Given the description of an element on the screen output the (x, y) to click on. 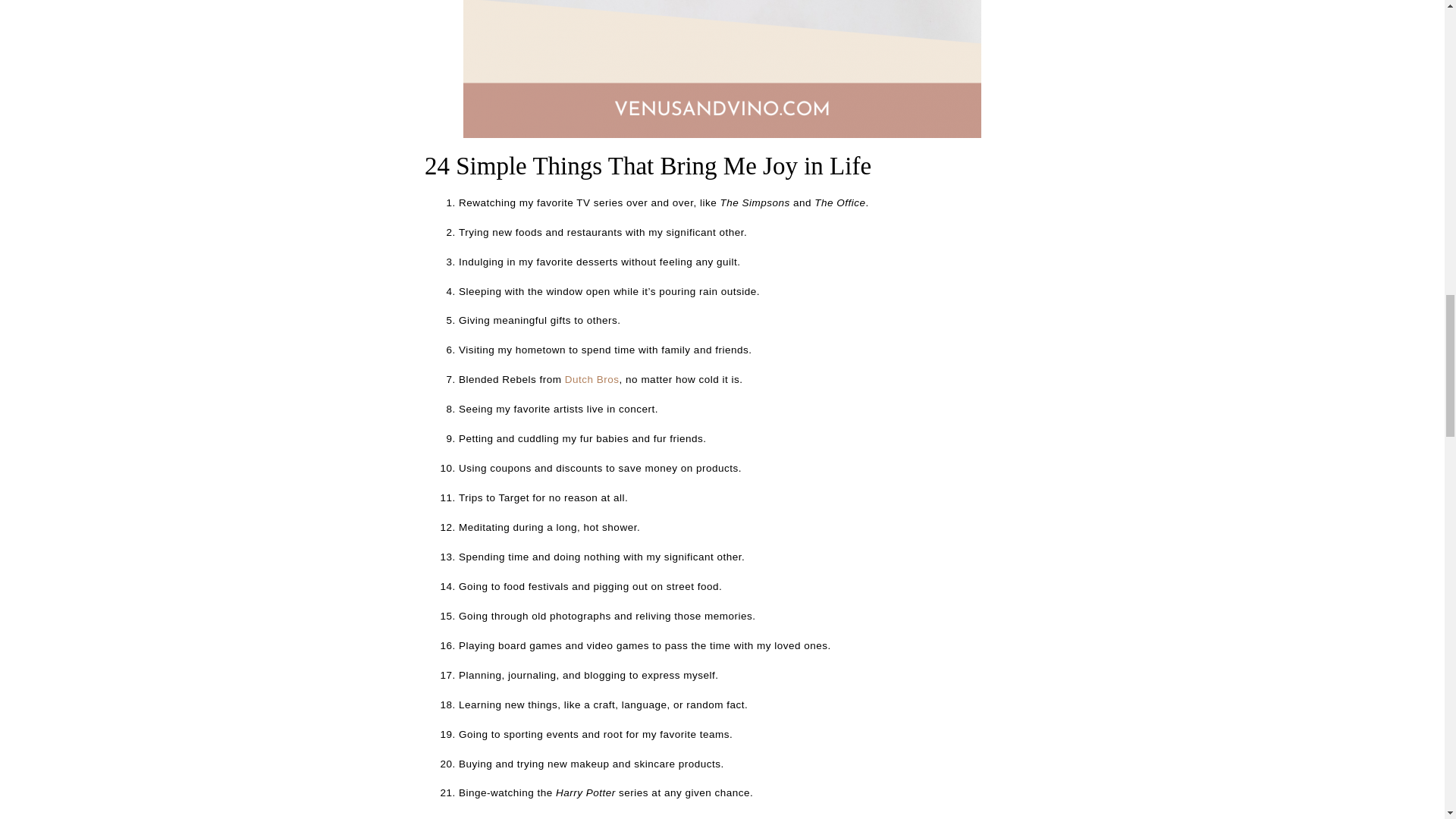
Dutch Bros (592, 378)
